Given the description of an element on the screen output the (x, y) to click on. 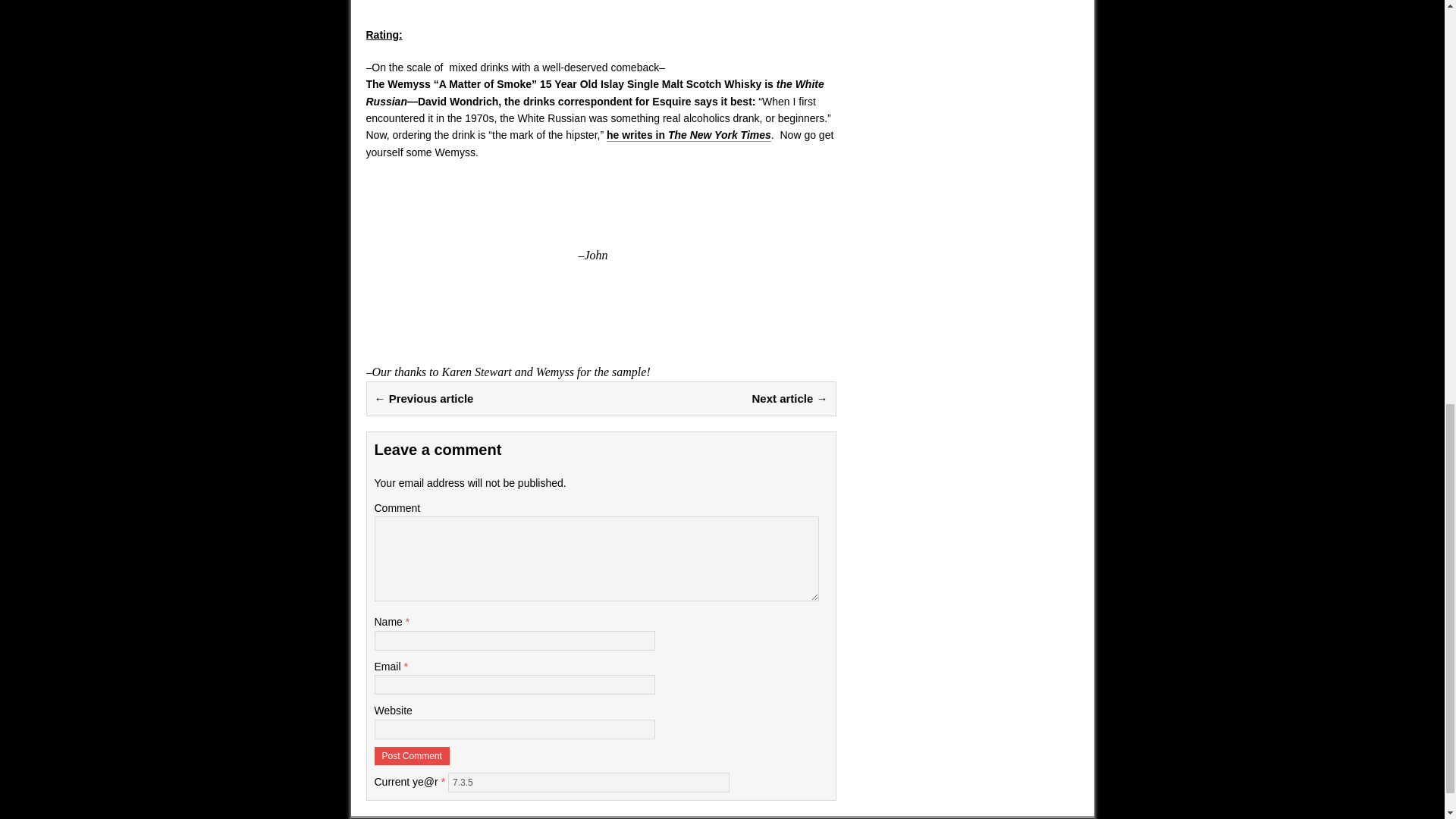
Post Comment (411, 755)
Post Comment (411, 755)
he writes in The New York Times (689, 134)
7.3.5 (588, 782)
